Given the description of an element on the screen output the (x, y) to click on. 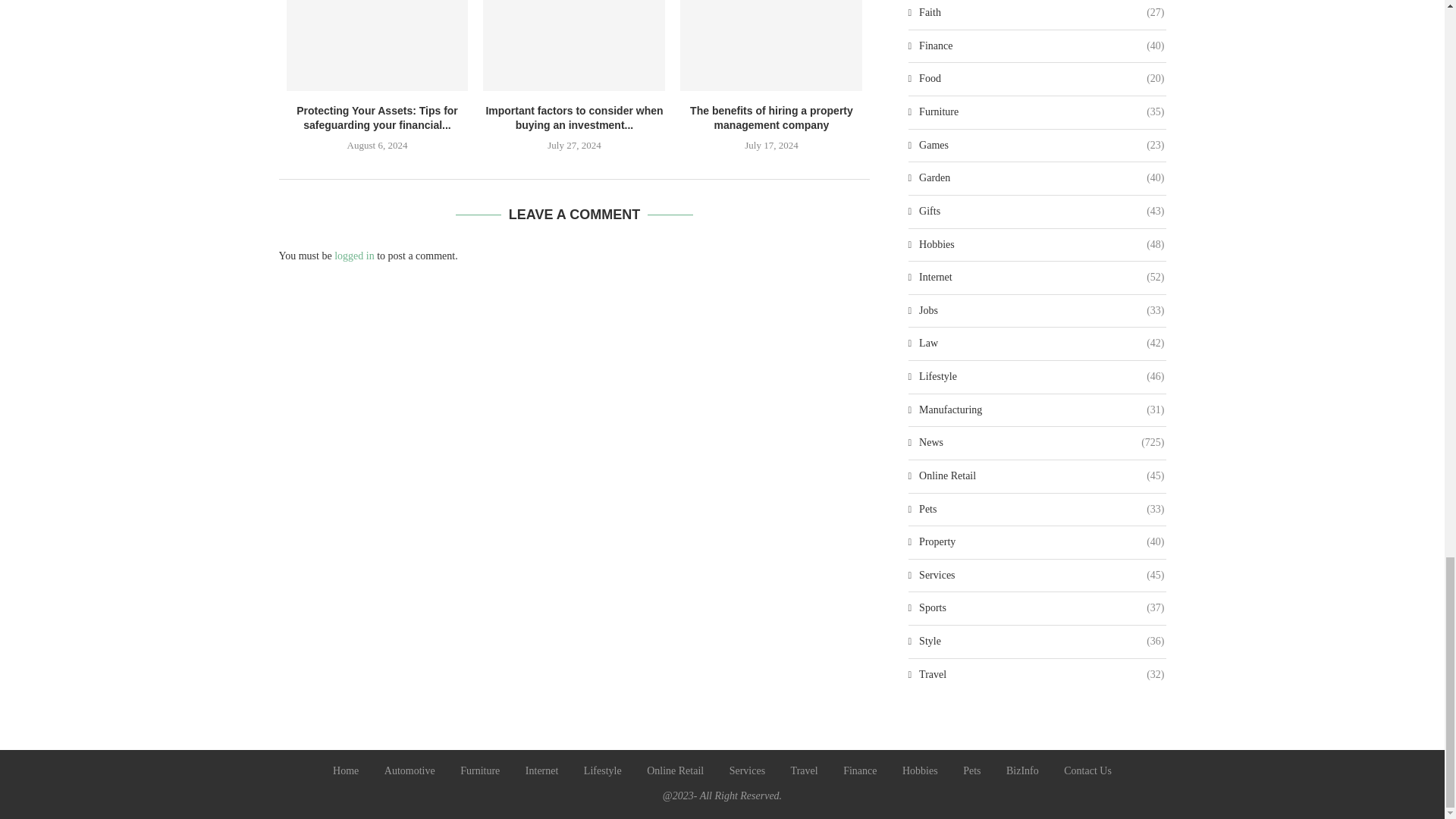
The benefits of hiring a property management company (770, 45)
